Given the description of an element on the screen output the (x, y) to click on. 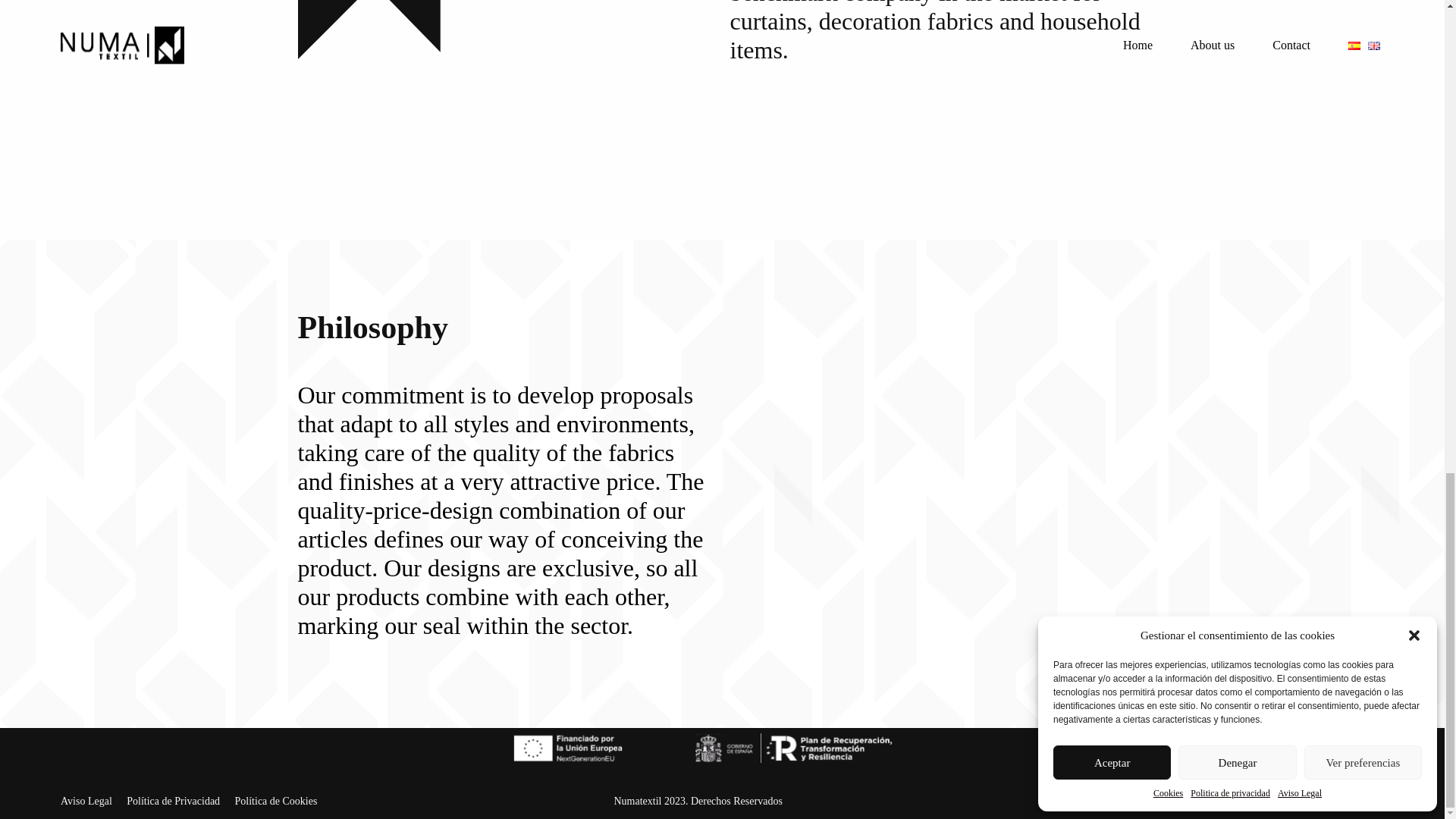
Aviso Legal (86, 800)
Vector (409, 29)
Numatextil 2023. Derechos Reservados (696, 800)
